Given the description of an element on the screen output the (x, y) to click on. 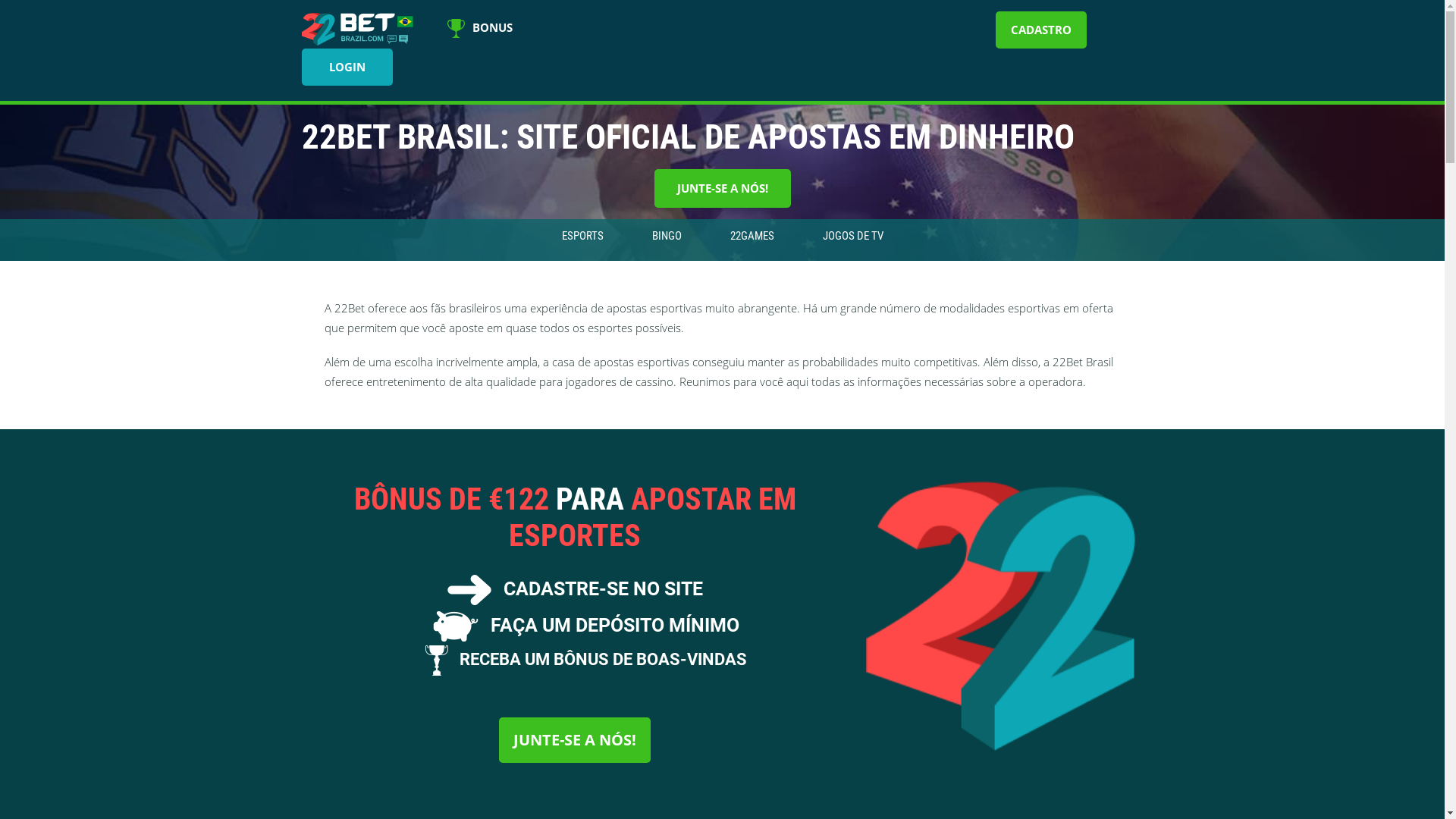
LOGIN Element type: text (346, 66)
BINGO Element type: text (666, 235)
JOGOS DE TV Element type: text (852, 235)
22GAMES Element type: text (751, 235)
22Bet Logo Element type: hover (358, 28)
22Bet Element type: hover (1000, 614)
CADASTRO Element type: text (1040, 29)
ESPORTS Element type: text (581, 235)
BONUS Element type: text (479, 29)
